Given the description of an element on the screen output the (x, y) to click on. 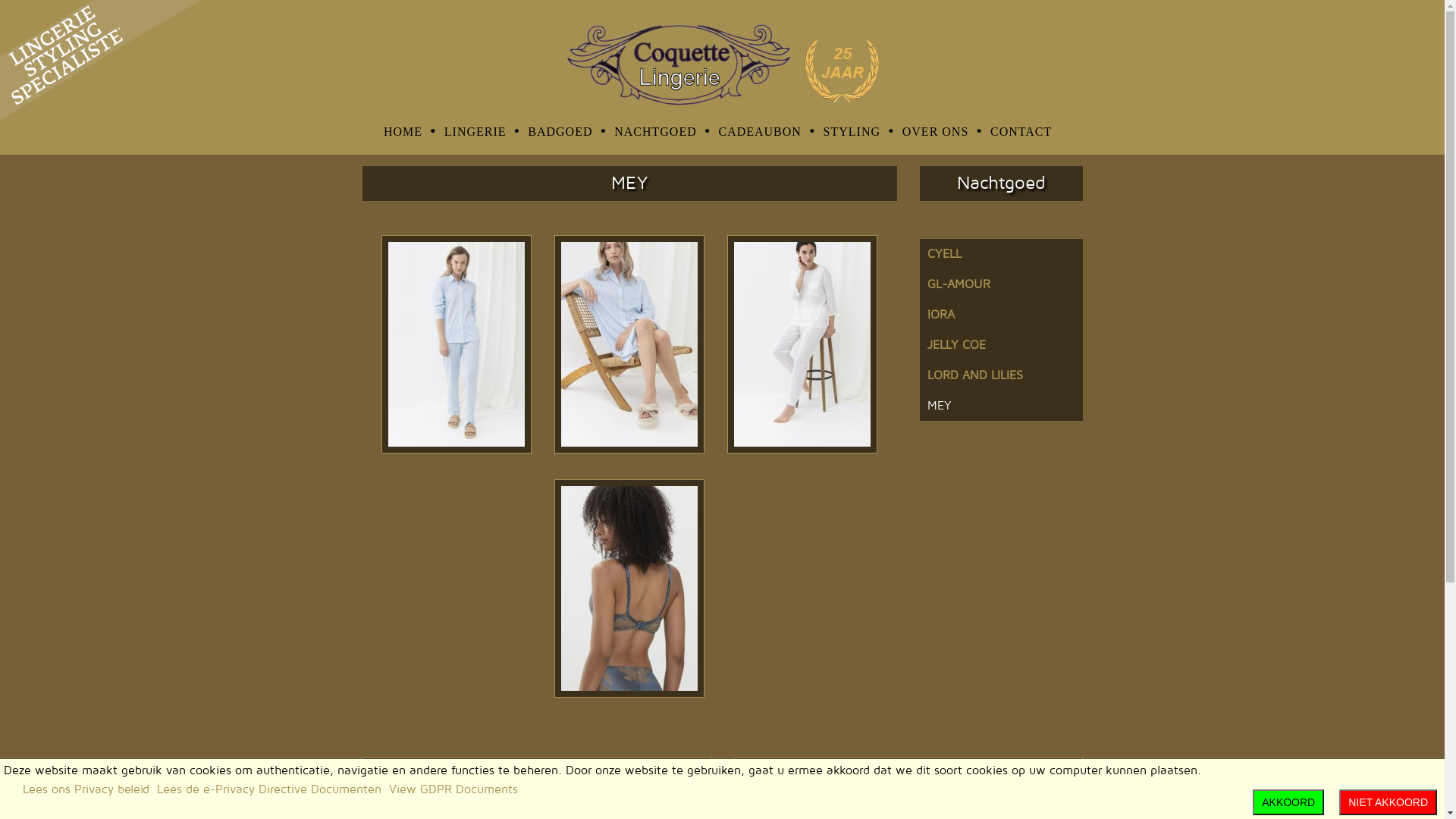
Lees ons Privacy beleid Element type: text (85, 789)
CADEAUBON Element type: text (768, 131)
NACHTGOED Element type: text (664, 131)
NIET AKKOORD Element type: text (1388, 802)
LORD AND LILIES Element type: text (1000, 375)
STYLING Element type: text (860, 131)
CYELL Element type: text (1000, 253)
View GDPR Documents Element type: text (453, 789)
GL-AMOUR Element type: text (1000, 284)
OVER ONS Element type: text (944, 131)
JELLY COE Element type: text (1000, 344)
LINGERIE Element type: text (484, 131)
Lees de e-Privacy Directive Documenten Element type: text (268, 789)
BADGOED Element type: text (568, 131)
HOME Element type: text (411, 131)
CONTACT Element type: text (1026, 131)
MEY Element type: text (1000, 405)
IORA Element type: text (1000, 314)
AKKOORD Element type: text (1288, 802)
